Given the description of an element on the screen output the (x, y) to click on. 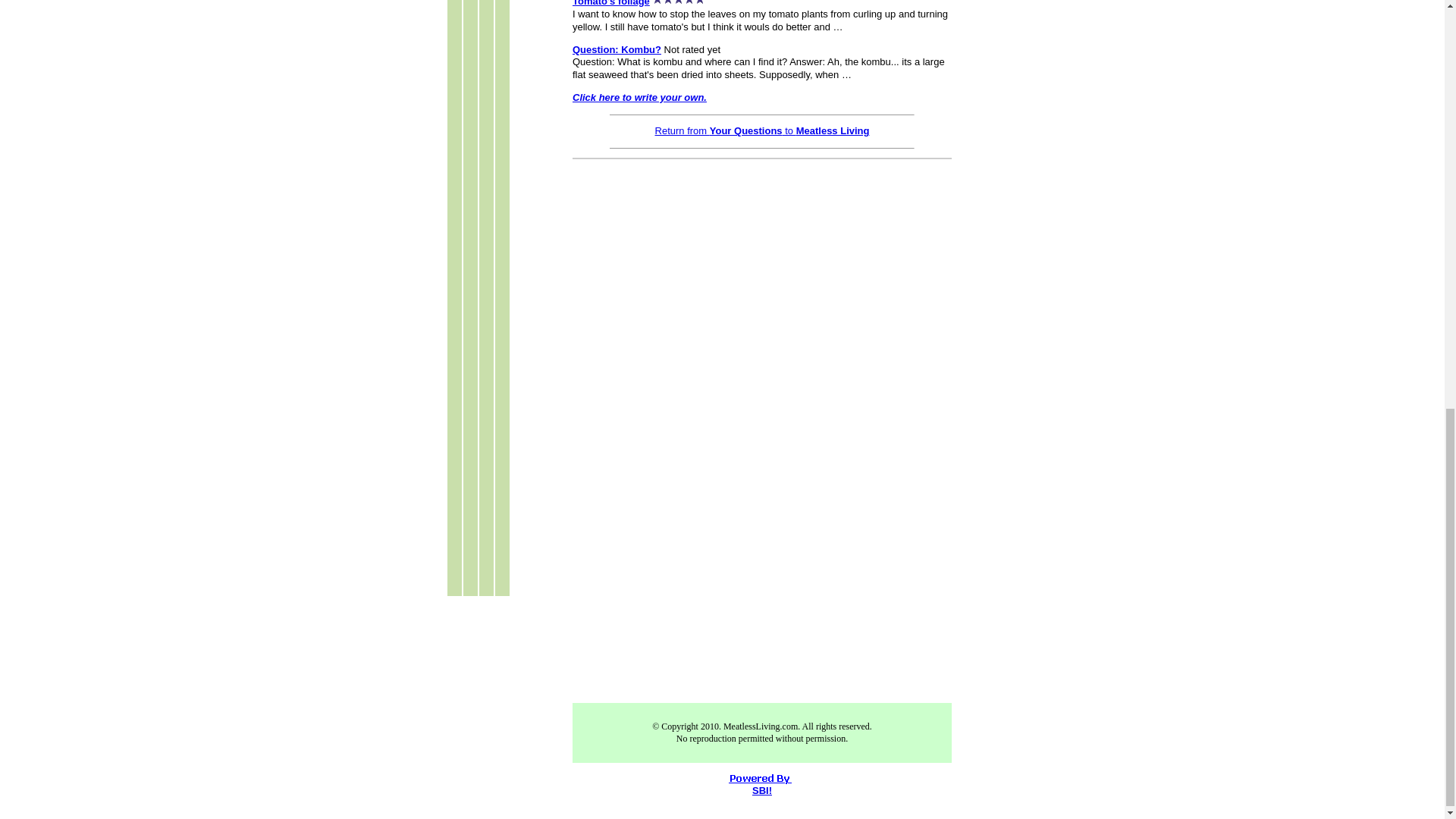
Home Page (762, 130)
SBI! (761, 790)
Tomato's foliage (610, 3)
Question: Kombu? (616, 49)
Click here to write your own. (639, 97)
Advertisement (699, 573)
Return from Your Questions to Meatless Living (762, 130)
